Given the description of an element on the screen output the (x, y) to click on. 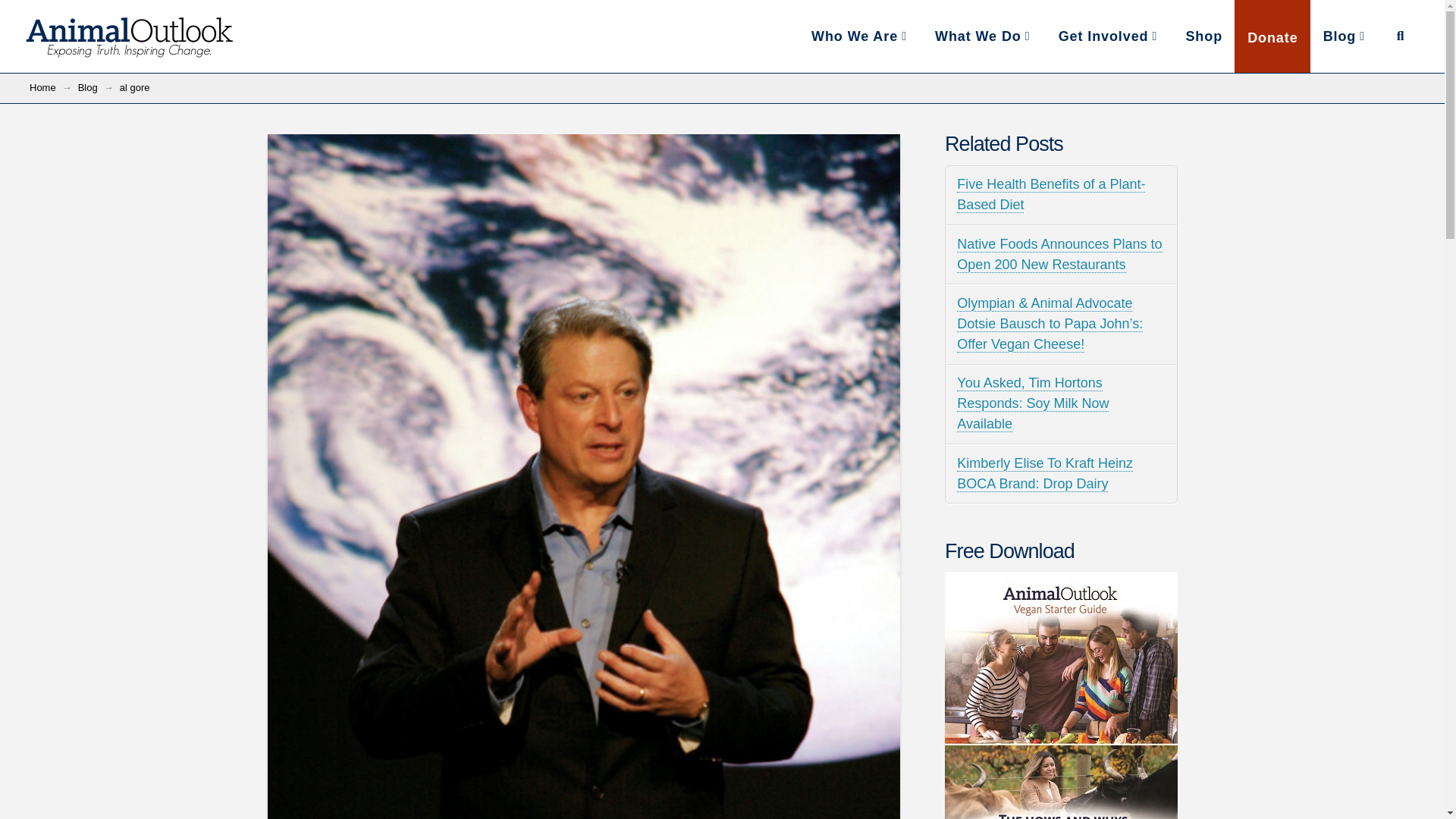
What We Do (983, 36)
Who We Are (859, 36)
Donate (1272, 36)
Get Involved (722, 36)
Blog (1109, 36)
Home (1345, 36)
al gore (42, 88)
You Are Here (134, 88)
